Given the description of an element on the screen output the (x, y) to click on. 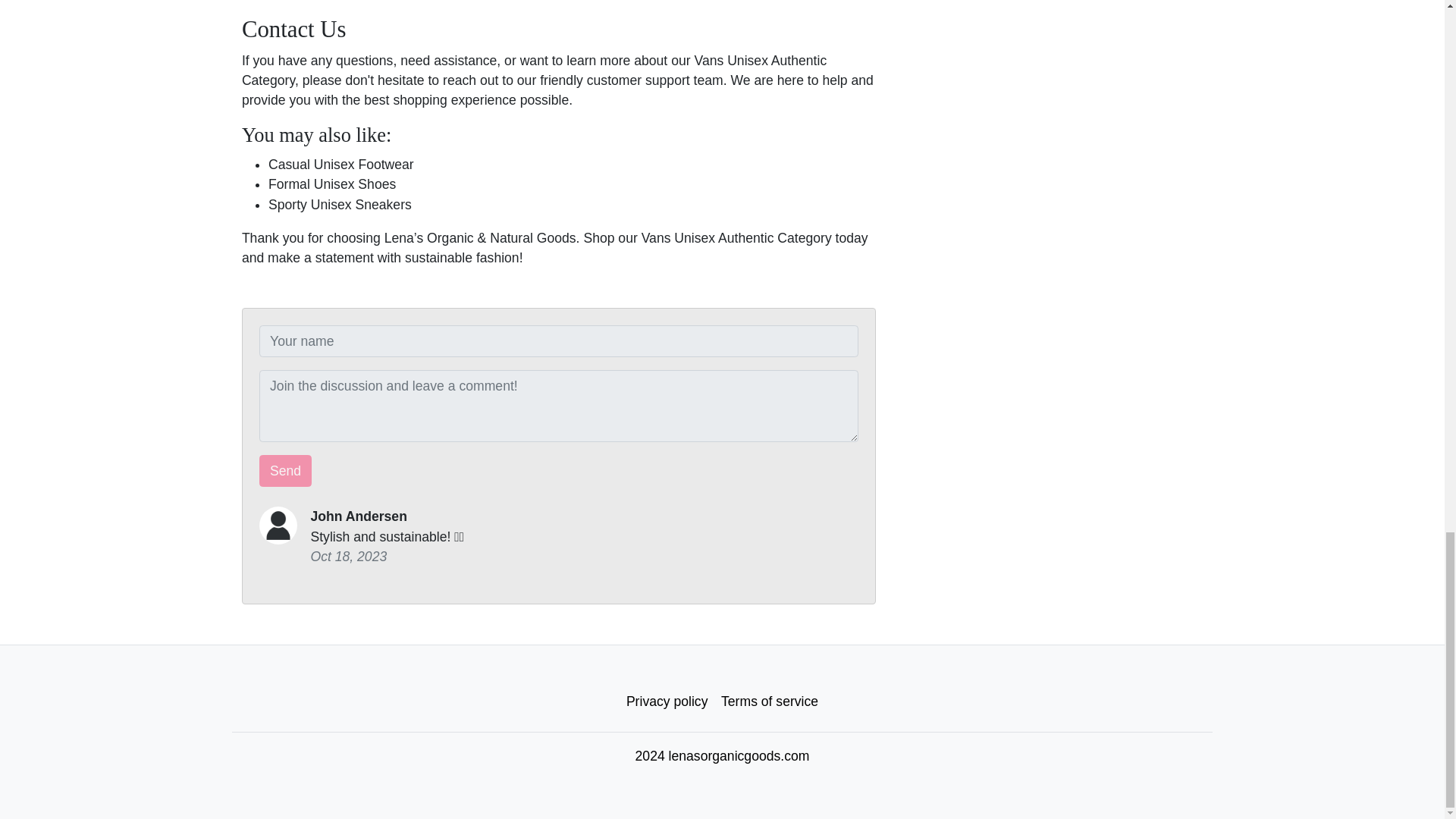
Send (285, 470)
Send (285, 470)
Privacy policy (667, 701)
Terms of service (769, 701)
